Given the description of an element on the screen output the (x, y) to click on. 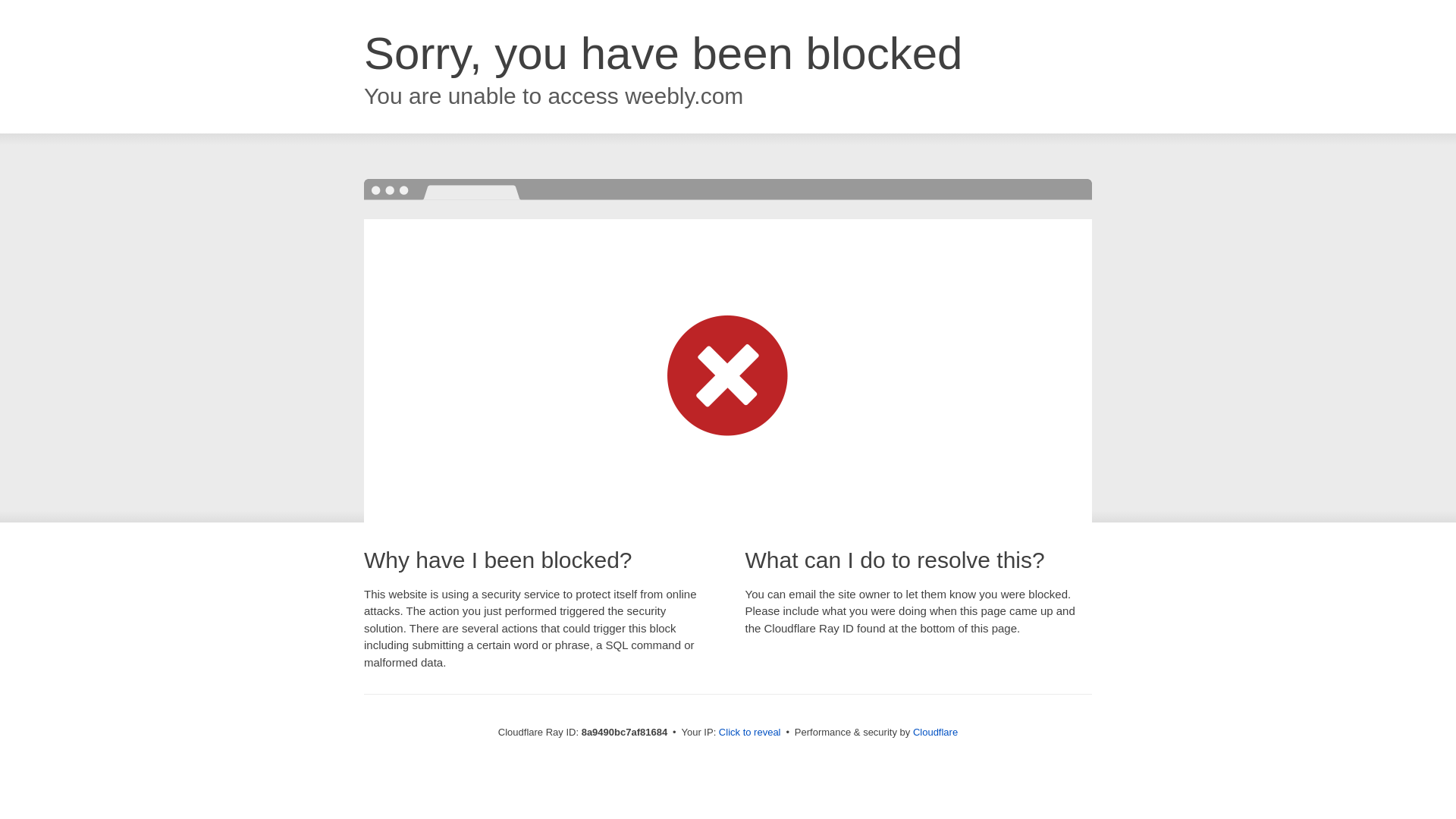
Cloudflare (935, 731)
Click to reveal (749, 732)
